Given the description of an element on the screen output the (x, y) to click on. 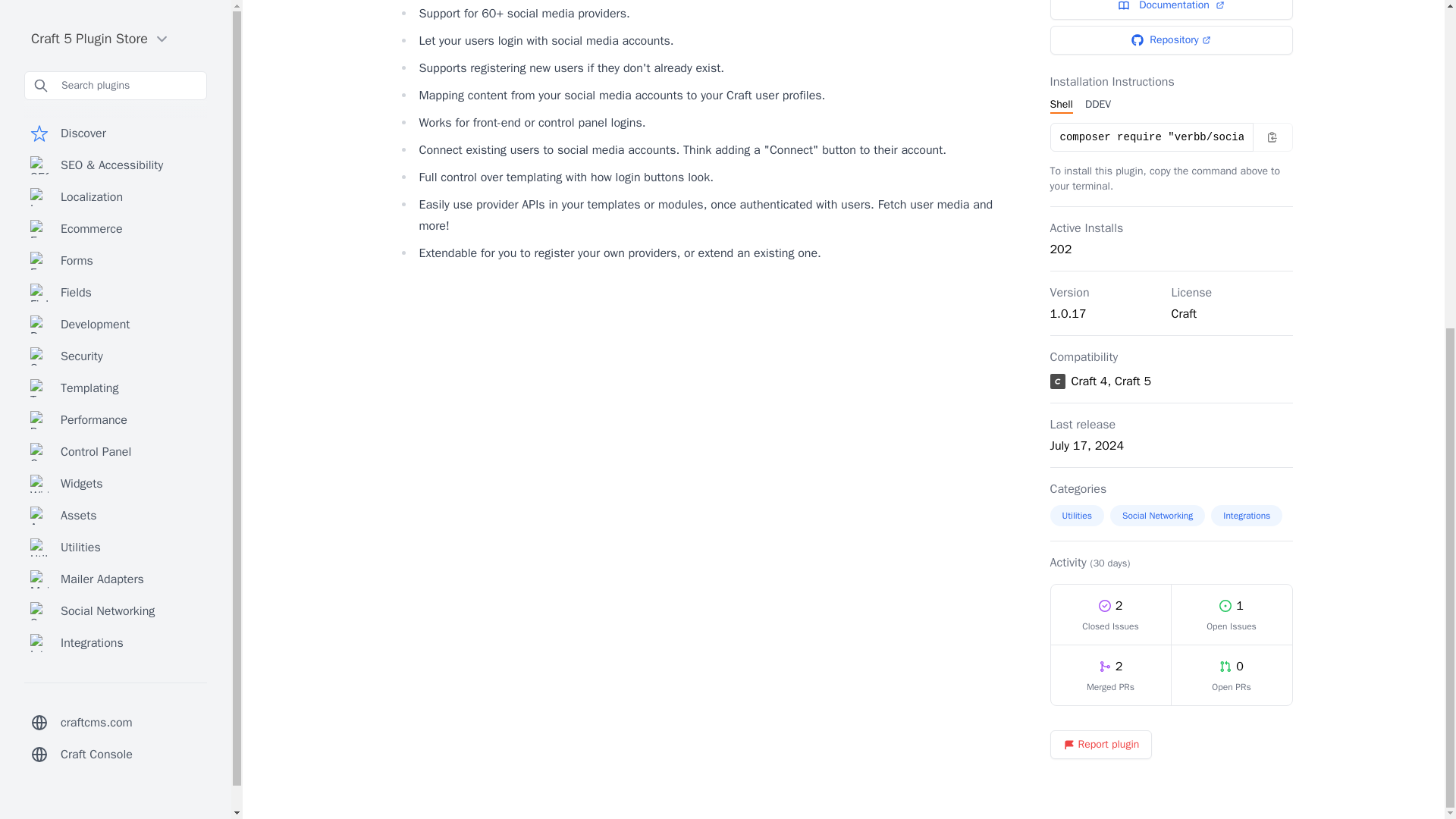
Mailer Adapters (115, 37)
Integrations (115, 101)
Documentation (1170, 9)
craftcms.com (115, 181)
Social Networking (115, 69)
Utilities (1076, 515)
Social Networking (1157, 515)
Shell (1060, 105)
Repository (1170, 39)
Integrations (1246, 515)
DDEV (1097, 104)
Utilities (115, 10)
Craft Console (115, 213)
Report plugin (1100, 744)
